Given the description of an element on the screen output the (x, y) to click on. 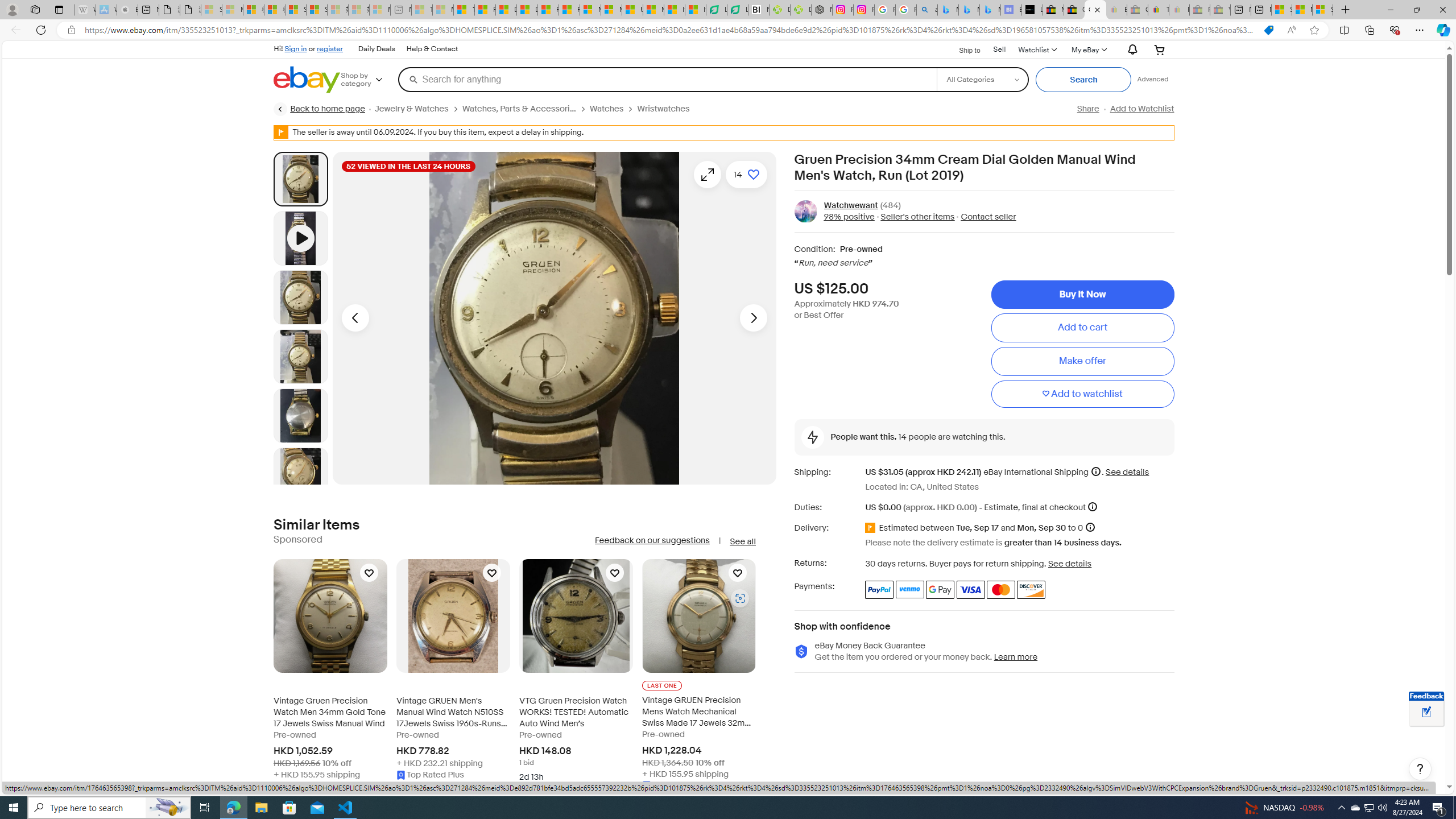
More information (1092, 506)
Opens image gallery (708, 174)
register (329, 48)
Make offer (1082, 361)
Help & Contact (431, 49)
Search for anything (666, 78)
Expand Cart (1159, 49)
Notifications (1129, 49)
Leave feedback about your eBay ViewItem experience (1426, 713)
Picture 3 of 13 (300, 356)
